Given the description of an element on the screen output the (x, y) to click on. 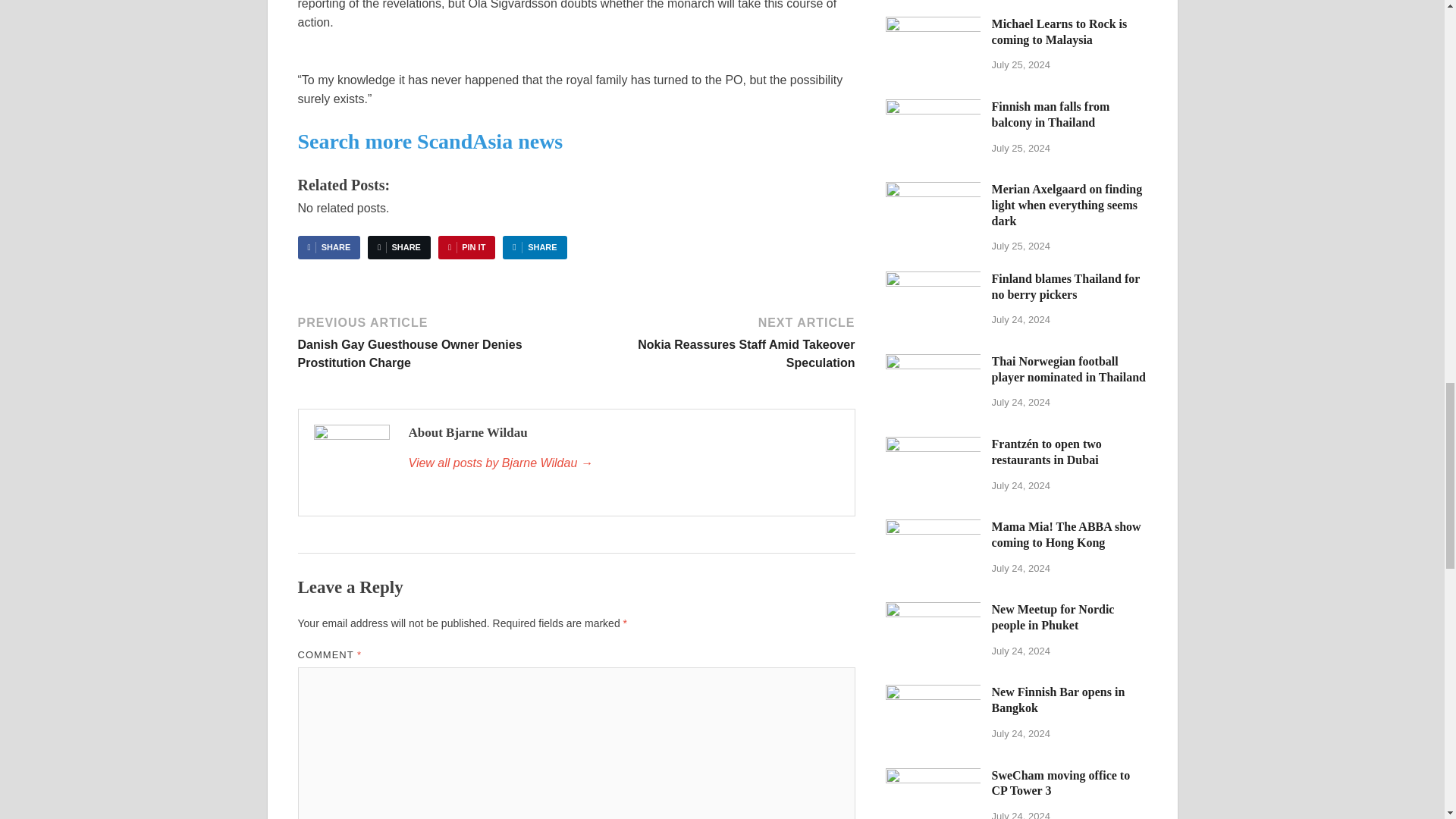
Thai Norwegian football player nominated in Thailand (932, 362)
New Meetup for Nordic people in Phuket (932, 610)
Merian Axelgaard on finding light when everything seems dark (932, 190)
SweCham moving office to CP Tower 3 (932, 776)
New Finnish Bar opens in Bangkok (932, 693)
Bjarne Wildau (622, 463)
Finland blames Thailand for no berry pickers (932, 279)
Michael Learns to Rock is coming to Malaysia (932, 24)
Finnish man falls from balcony in Thailand (932, 107)
Mama Mia! The ABBA show coming to Hong Kong (932, 527)
